Given the description of an element on the screen output the (x, y) to click on. 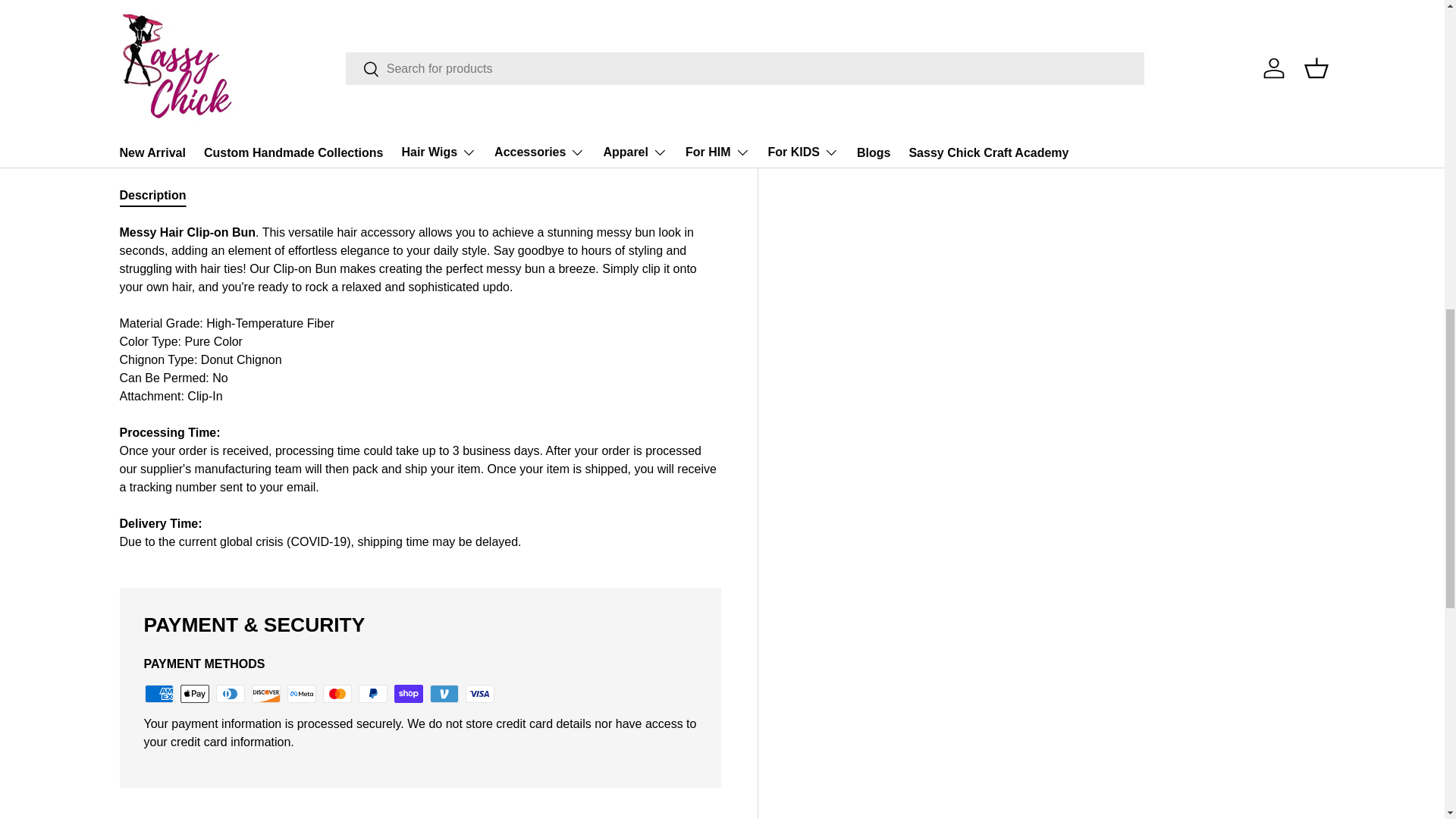
Description (420, 195)
